Given the description of an element on the screen output the (x, y) to click on. 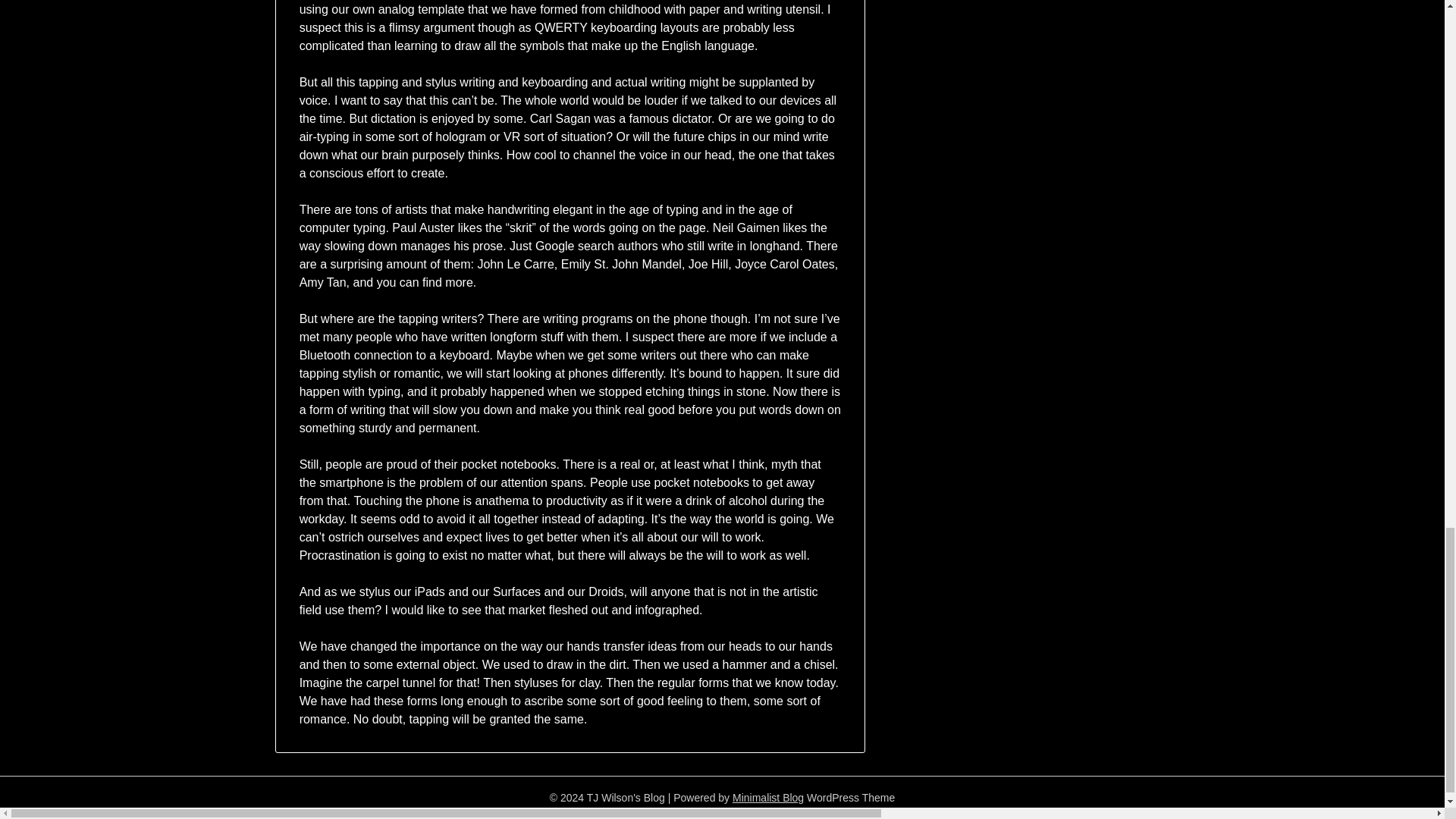
Minimalist Blog (767, 797)
